Given the description of an element on the screen output the (x, y) to click on. 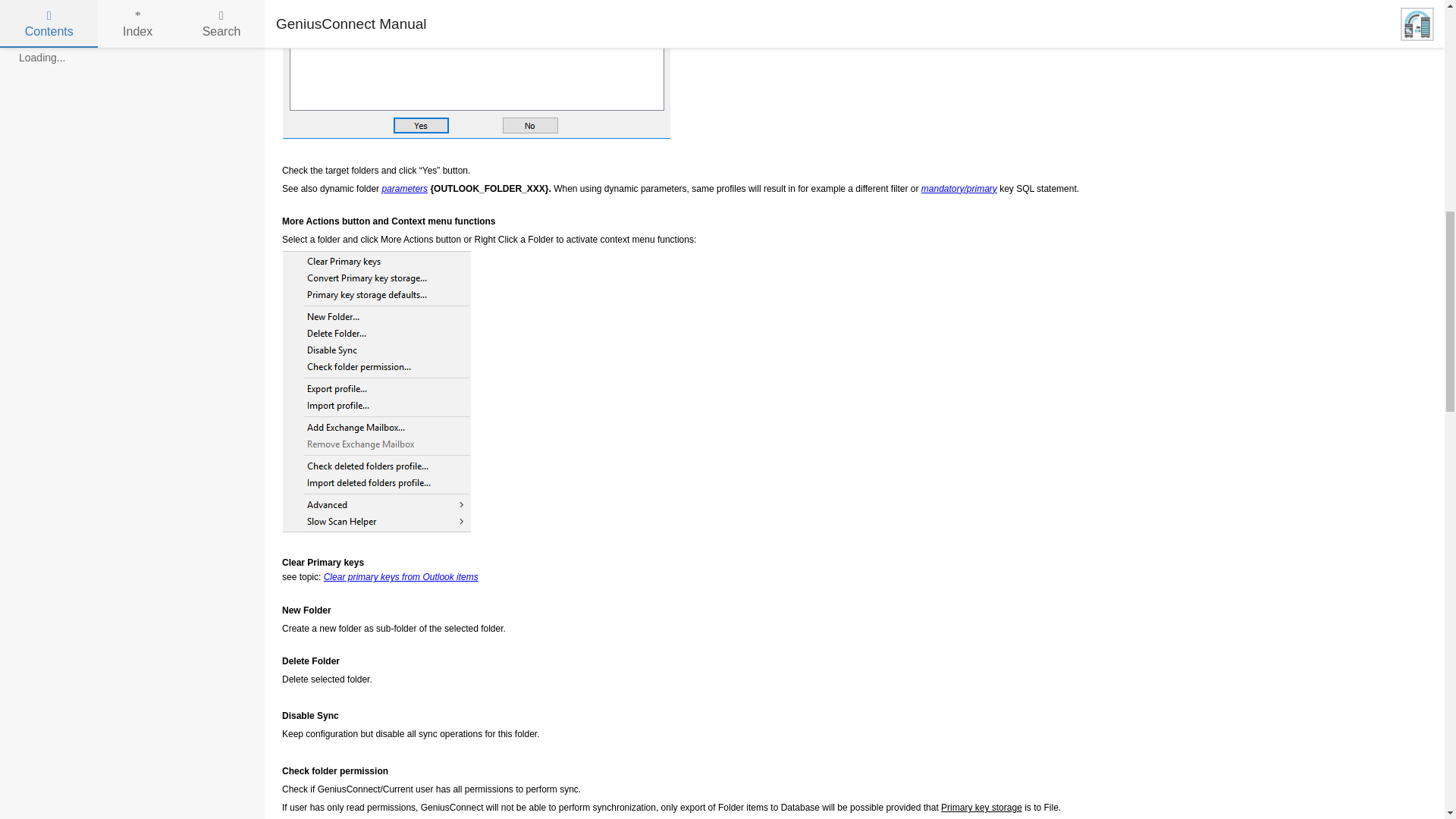
Clear primary keys from Outlook items (401, 576)
parameters (404, 188)
Primary key storage (981, 807)
